Given the description of an element on the screen output the (x, y) to click on. 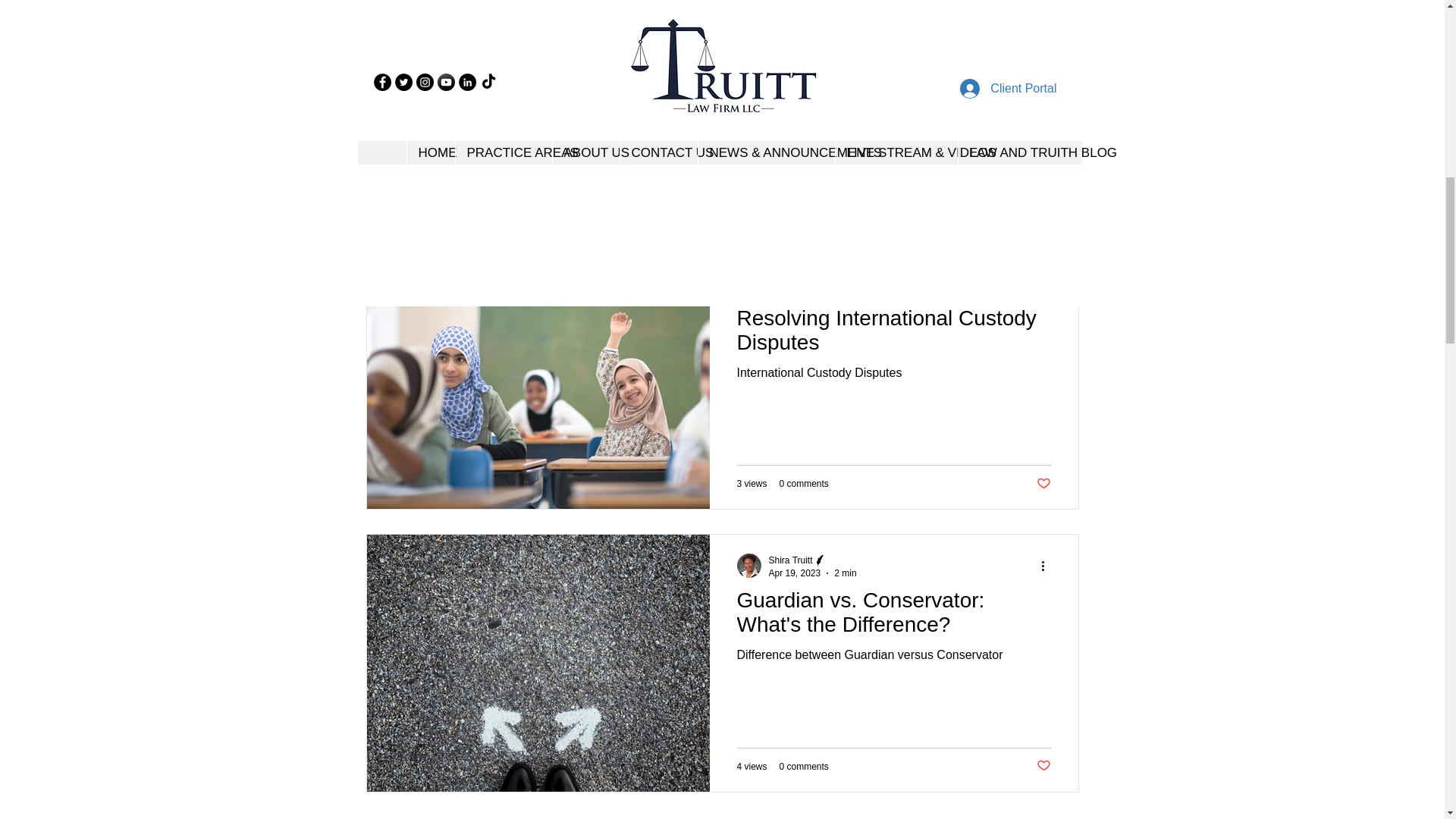
Post not marked as liked (1042, 201)
Shira Truitt (790, 560)
0 comments (803, 201)
Shira Truitt (812, 1)
Shira Truitt (790, 277)
Shira Truitt (814, 278)
3 min (848, 290)
May 17, 2023 (796, 290)
Successful Succession Planning for Small Businesses (893, 51)
2 min (845, 8)
Jun 28, 2023 (794, 8)
Apr 19, 2023 (794, 573)
2 min (845, 573)
Shira Truitt (790, 0)
